Given the description of an element on the screen output the (x, y) to click on. 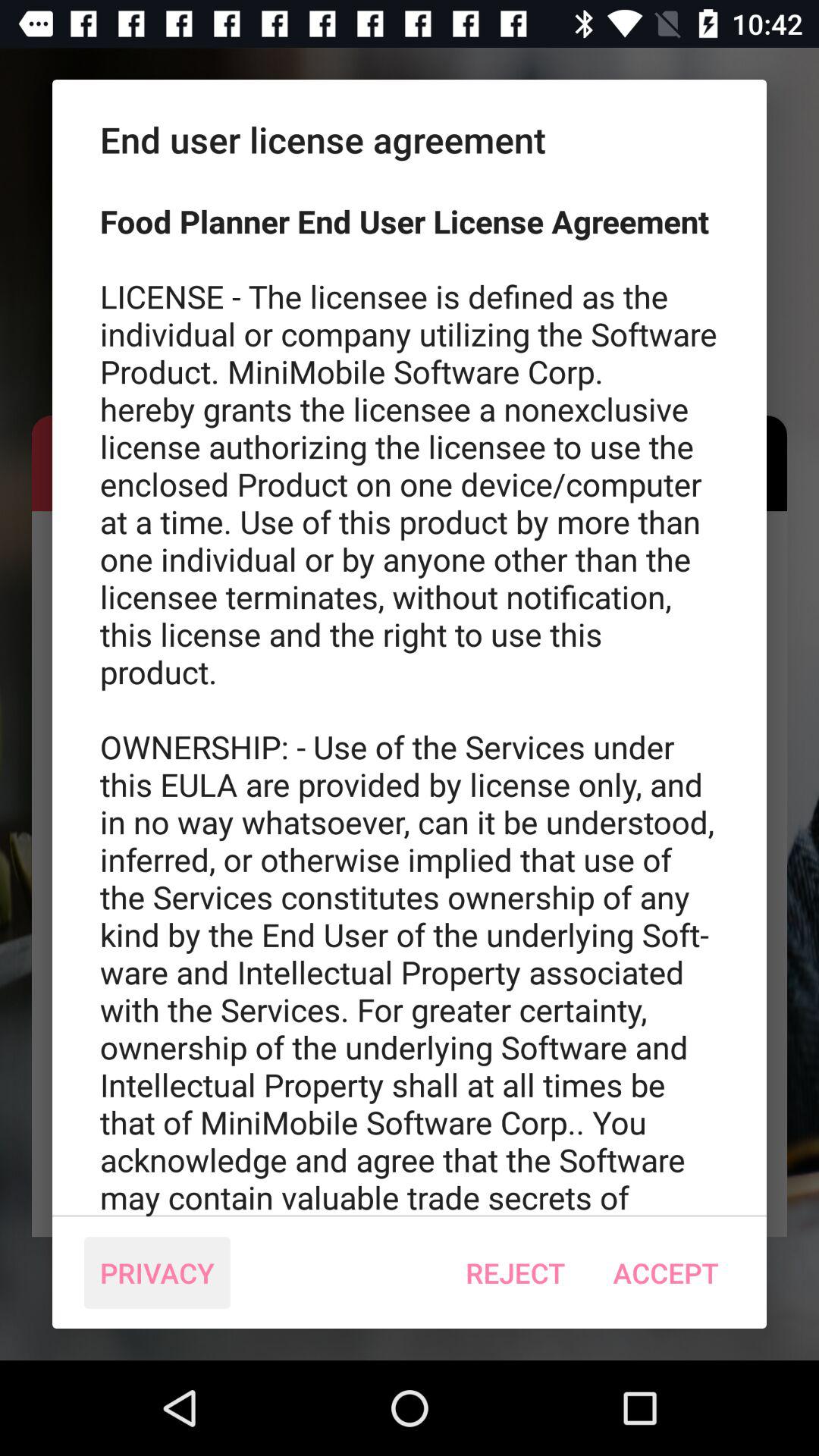
turn off the icon at the bottom left corner (157, 1272)
